Given the description of an element on the screen output the (x, y) to click on. 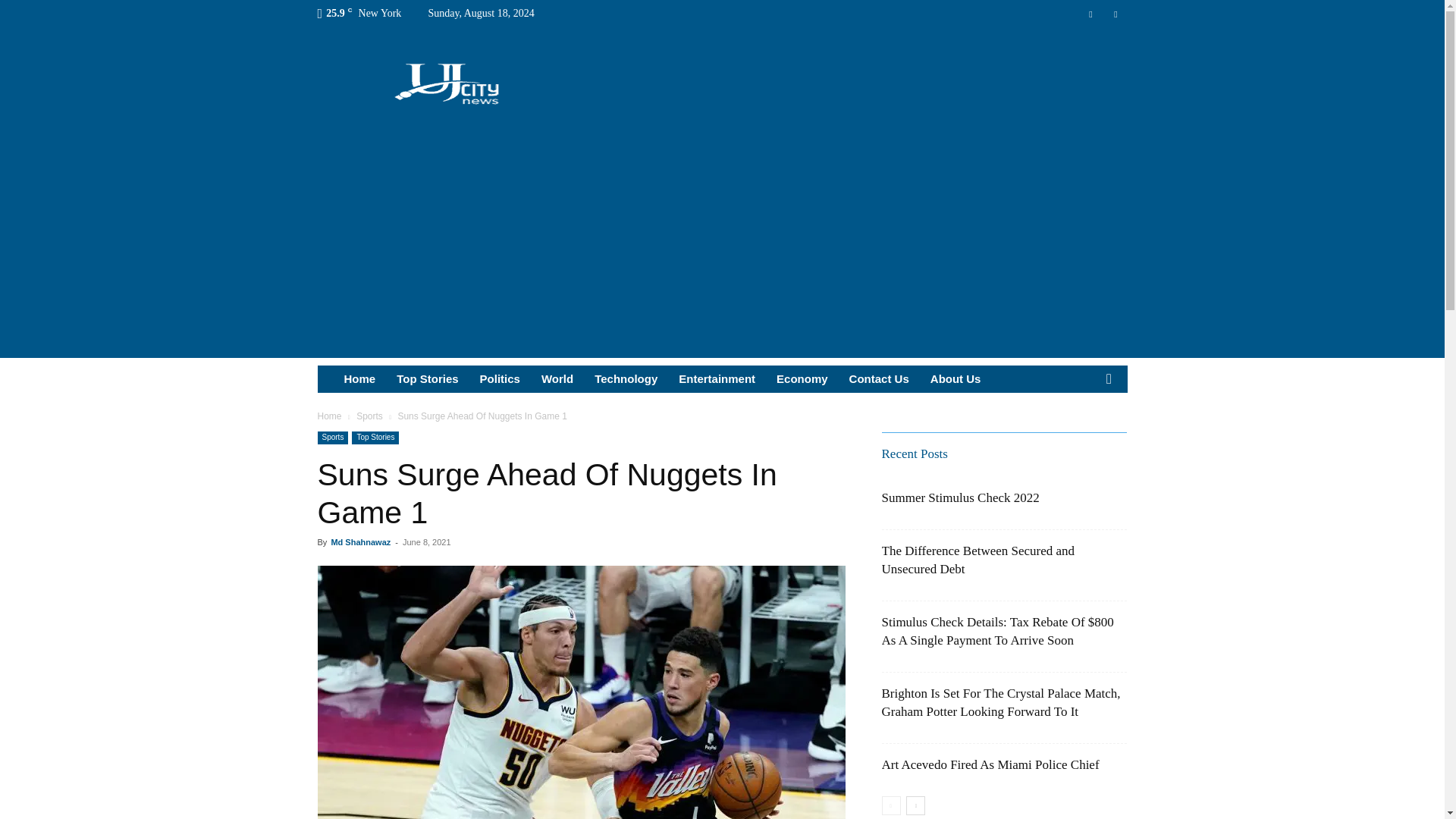
Economy (801, 379)
Contact Us (879, 379)
suns (580, 692)
Top Stories (375, 437)
View all posts in Sports (369, 416)
Sports (369, 416)
The Union Journal (446, 82)
Home (328, 416)
Search (1085, 435)
